Given the description of an element on the screen output the (x, y) to click on. 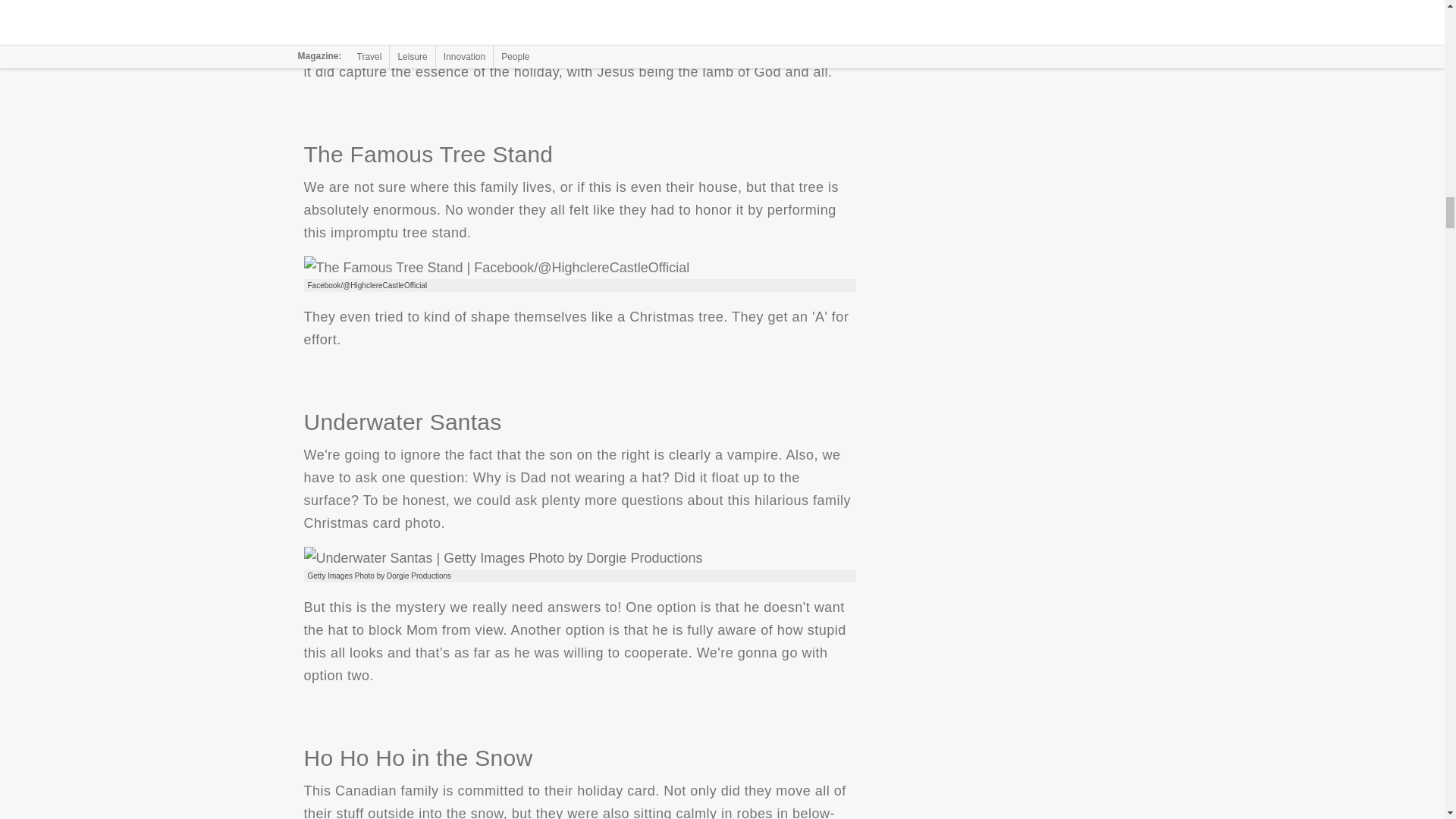
The Famous Tree Stand (495, 267)
Underwater Santas (501, 558)
